Given the description of an element on the screen output the (x, y) to click on. 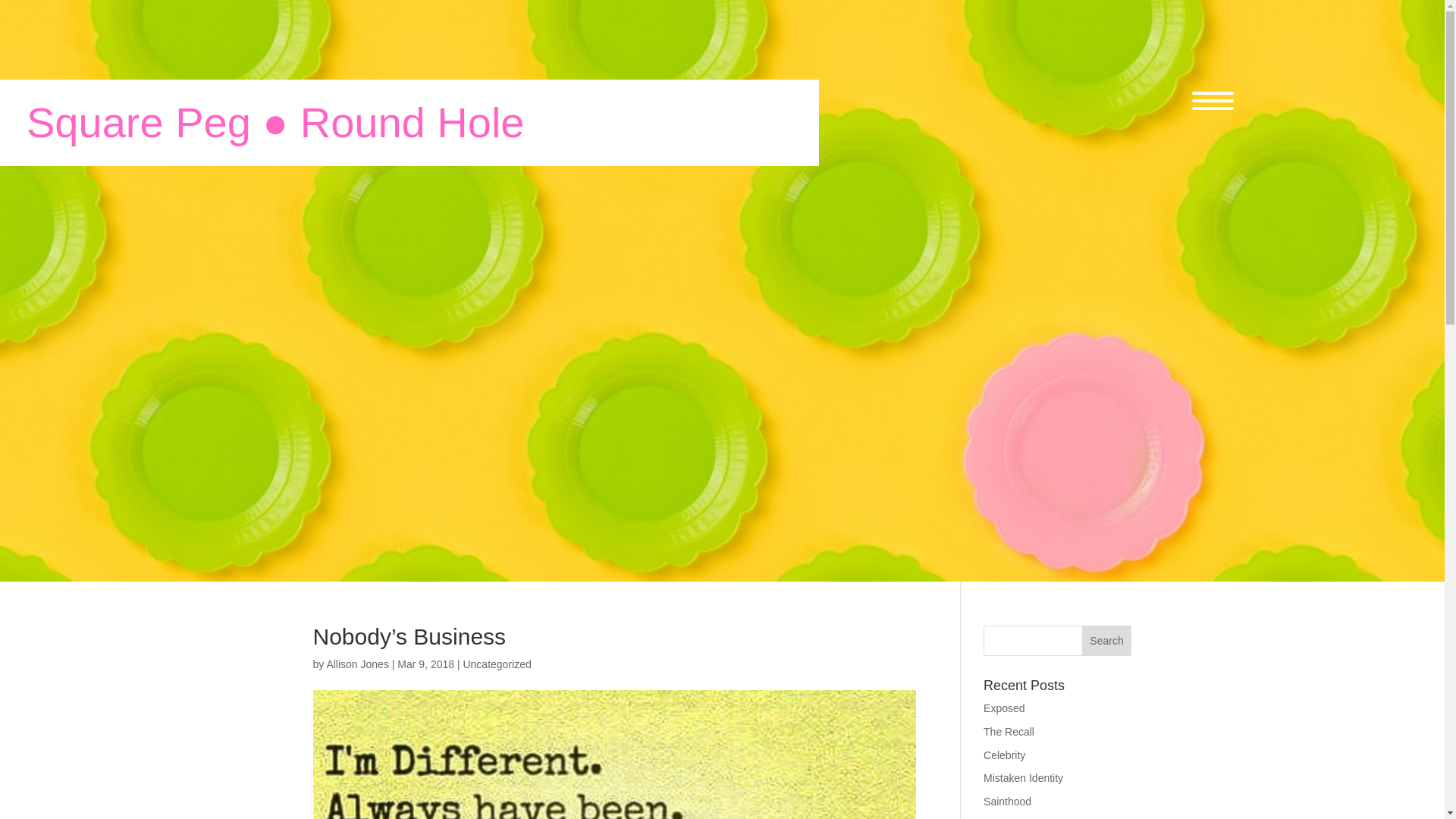
Search (1106, 640)
The Recall (1008, 731)
Sainthood (1007, 801)
Celebrity (1004, 755)
Exposed (1004, 707)
Mistaken Identity (1023, 777)
Search (1106, 640)
Allison Jones (357, 664)
Posts by Allison Jones (357, 664)
Uncategorized (497, 664)
